Given the description of an element on the screen output the (x, y) to click on. 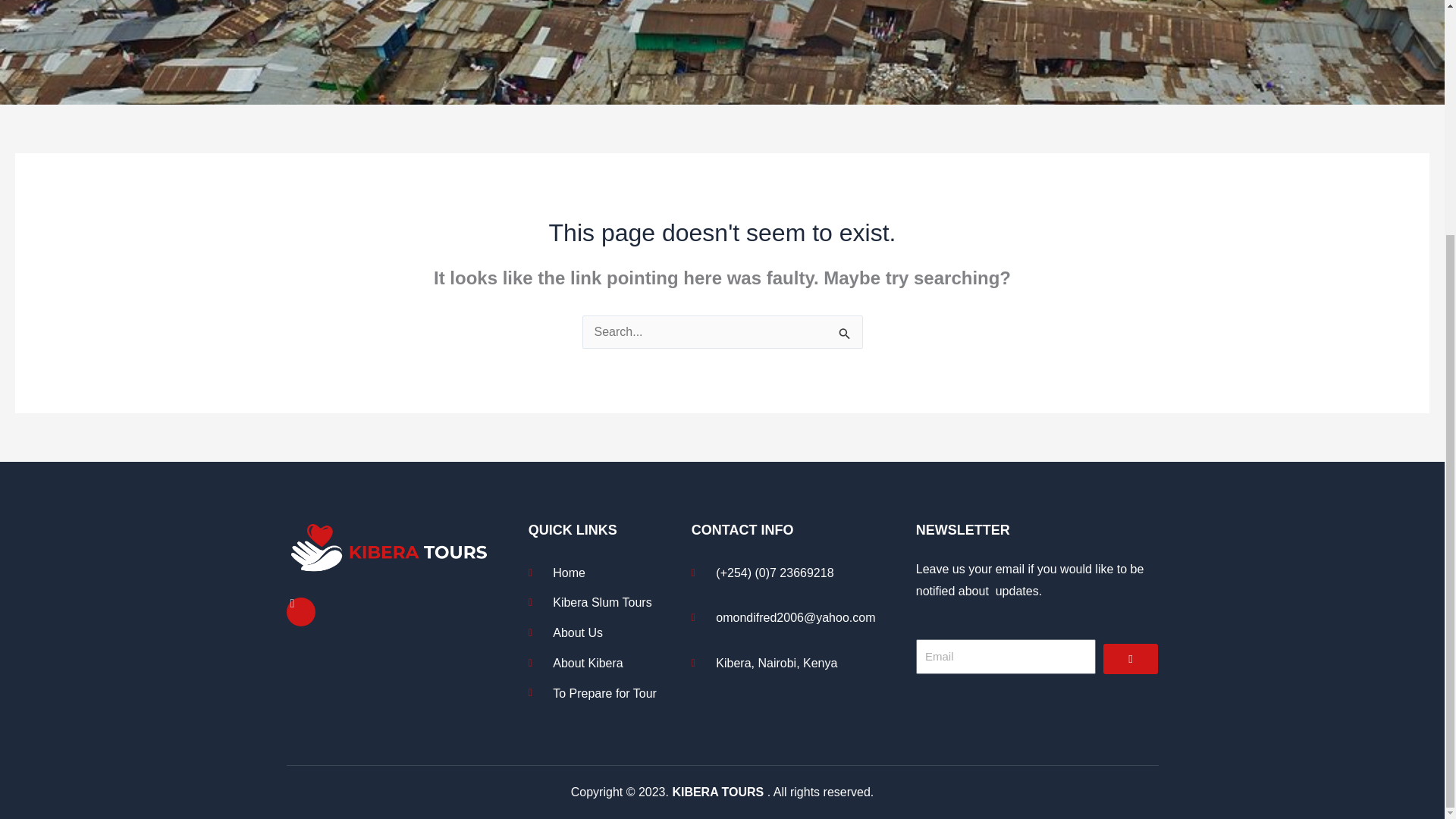
About Us (606, 632)
Home (606, 572)
Kibera Slum Tours (606, 602)
To Prepare for Tour (606, 693)
Submit (1130, 658)
About Kibera (606, 662)
Facebook-f (300, 611)
